Given the description of an element on the screen output the (x, y) to click on. 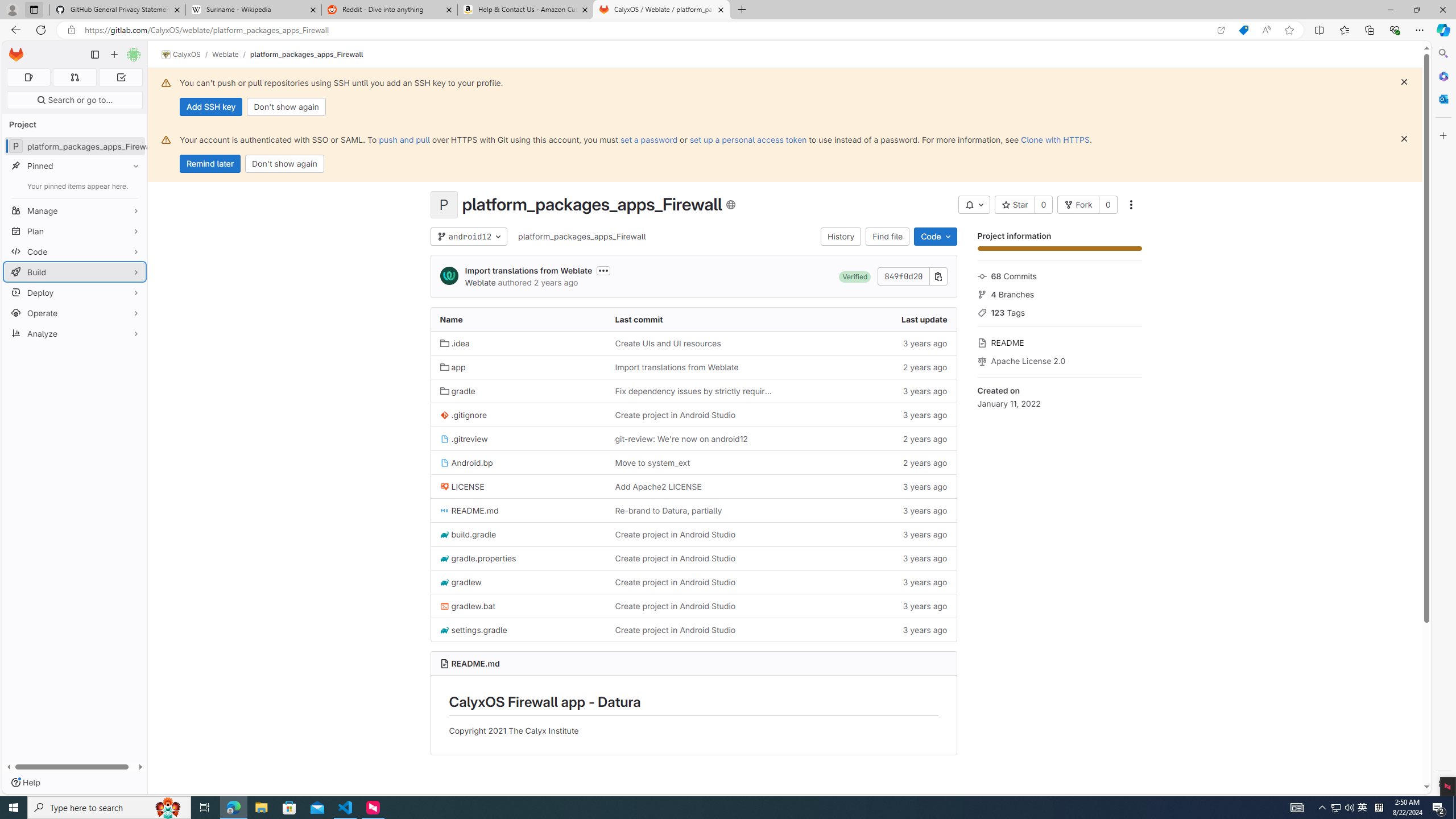
AutomationID: __BVID__303__BV_toggle_ (974, 204)
2 years ago (868, 462)
Name (517, 319)
Create project in Android Studio (693, 629)
4 Branches (1058, 293)
gradle (457, 390)
Operate (74, 312)
Primary navigation sidebar (94, 54)
To-Do list 0 (120, 76)
Create new... (113, 54)
Analyze (74, 333)
